Given the description of an element on the screen output the (x, y) to click on. 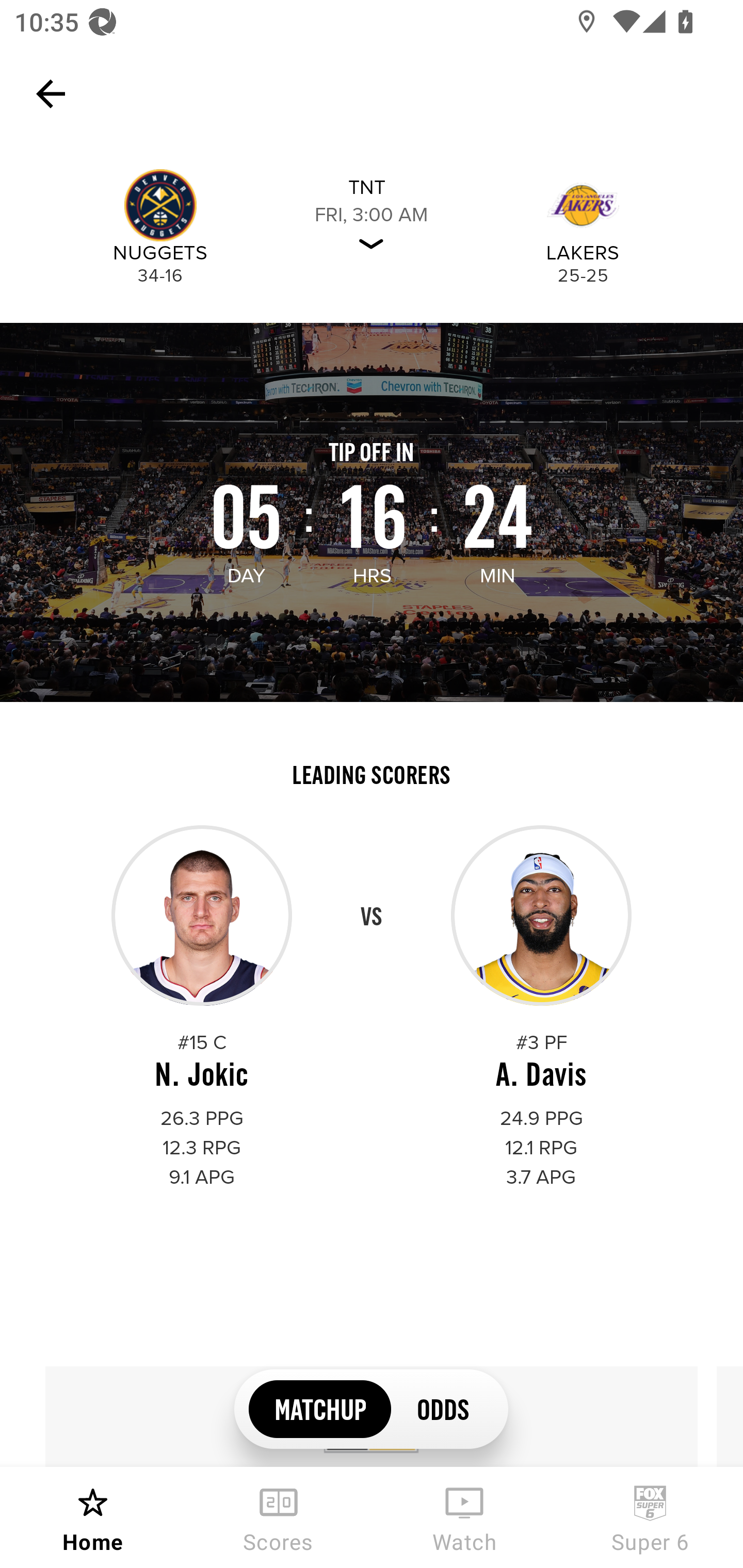
Navigate up (50, 93)
ODDS (442, 1408)
Scores (278, 1517)
Watch (464, 1517)
Super 6 (650, 1517)
